Given the description of an element on the screen output the (x, y) to click on. 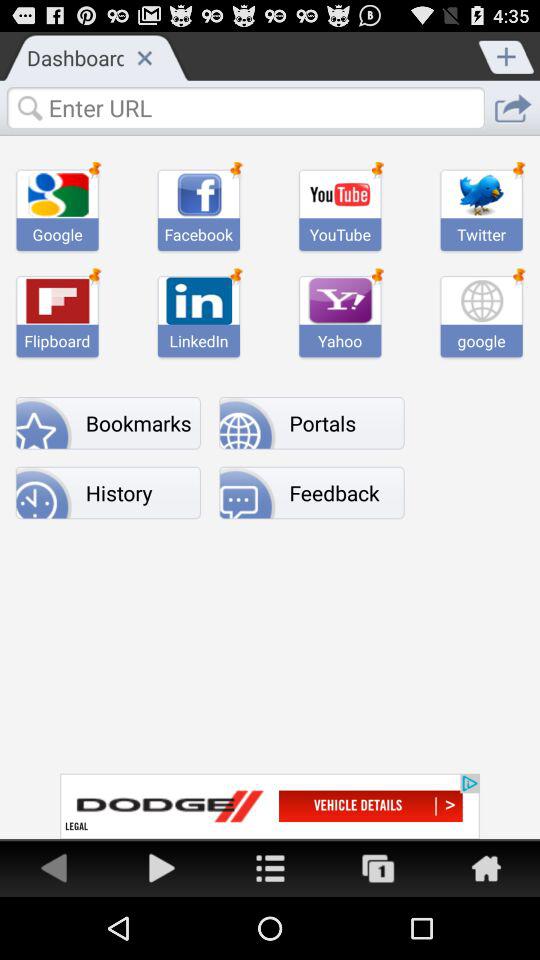
new tab (507, 55)
